Given the description of an element on the screen output the (x, y) to click on. 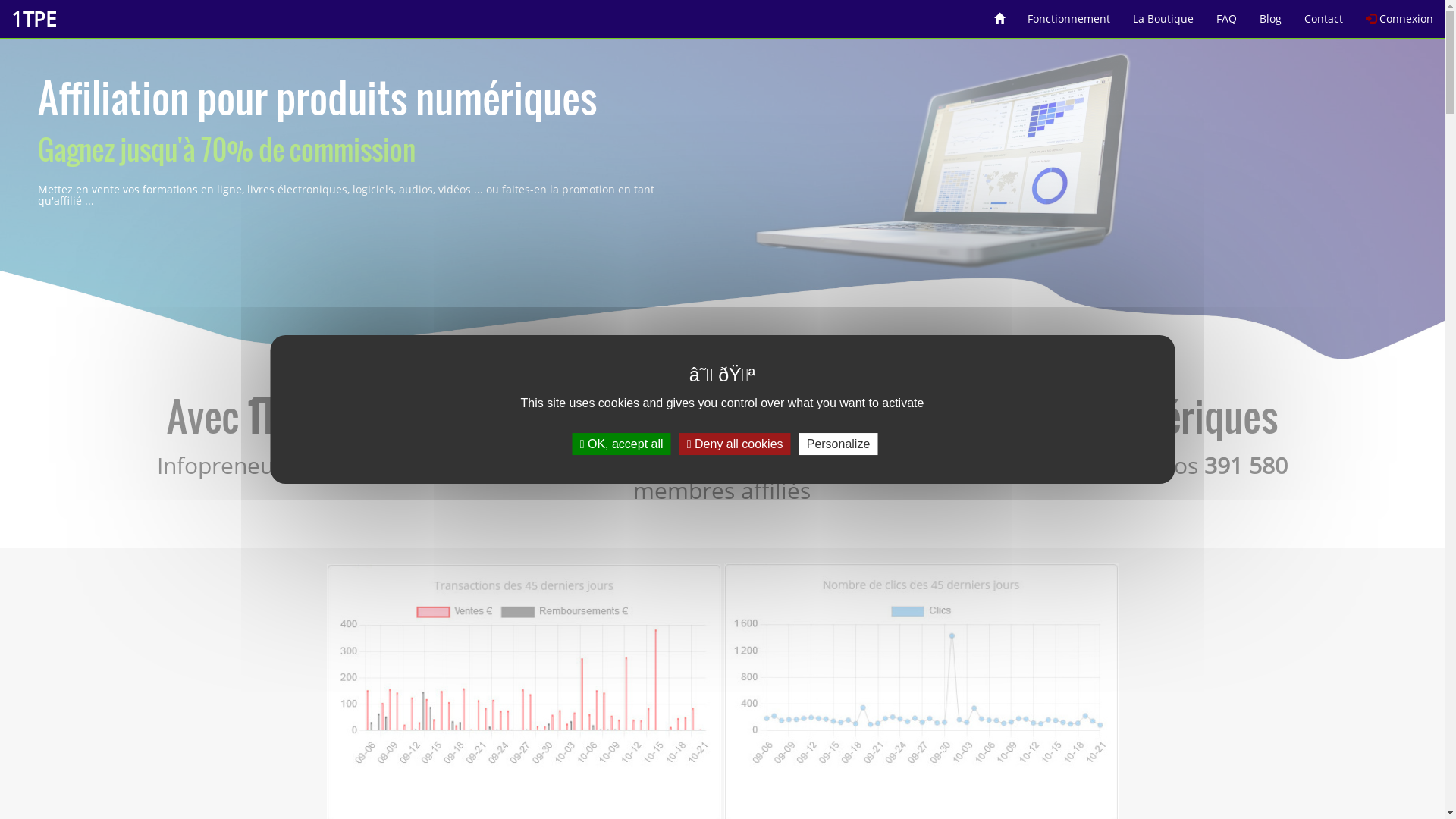
Contact Element type: text (1323, 13)
1TPE Element type: text (33, 18)
Deny all cookies Element type: text (734, 444)
Personalize Element type: text (838, 444)
OK, accept all Element type: text (621, 444)
Connexion Element type: text (1399, 13)
La Boutique Element type: text (1162, 13)
Blog Element type: text (1270, 13)
Fonctionnement Element type: text (1068, 13)
FAQ Element type: text (1226, 13)
